Given the description of an element on the screen output the (x, y) to click on. 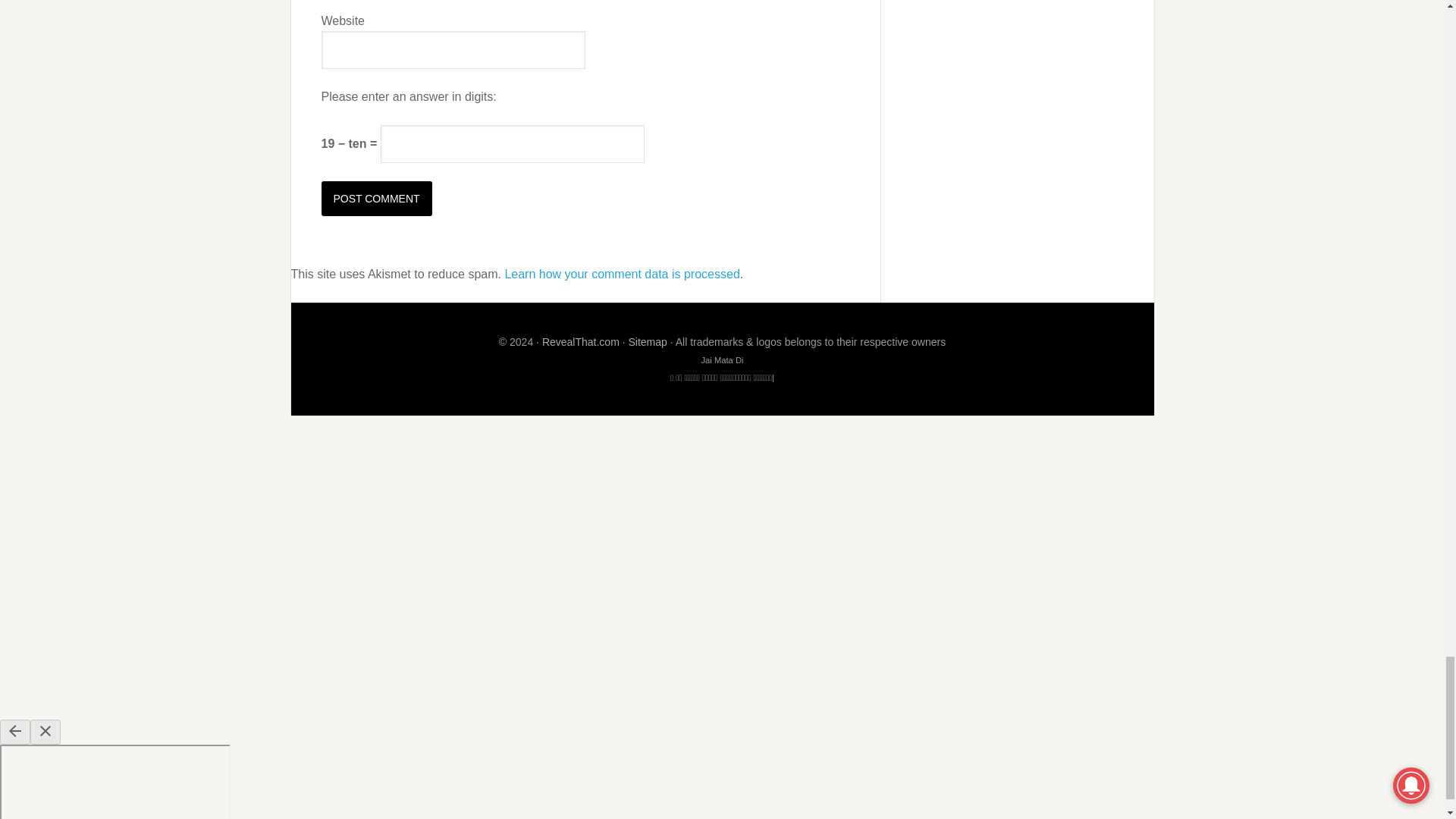
Sitemap (646, 341)
Learn how your comment data is processed (621, 273)
Post Comment (376, 198)
RevealThat.com (580, 341)
Post Comment (376, 198)
